Given the description of an element on the screen output the (x, y) to click on. 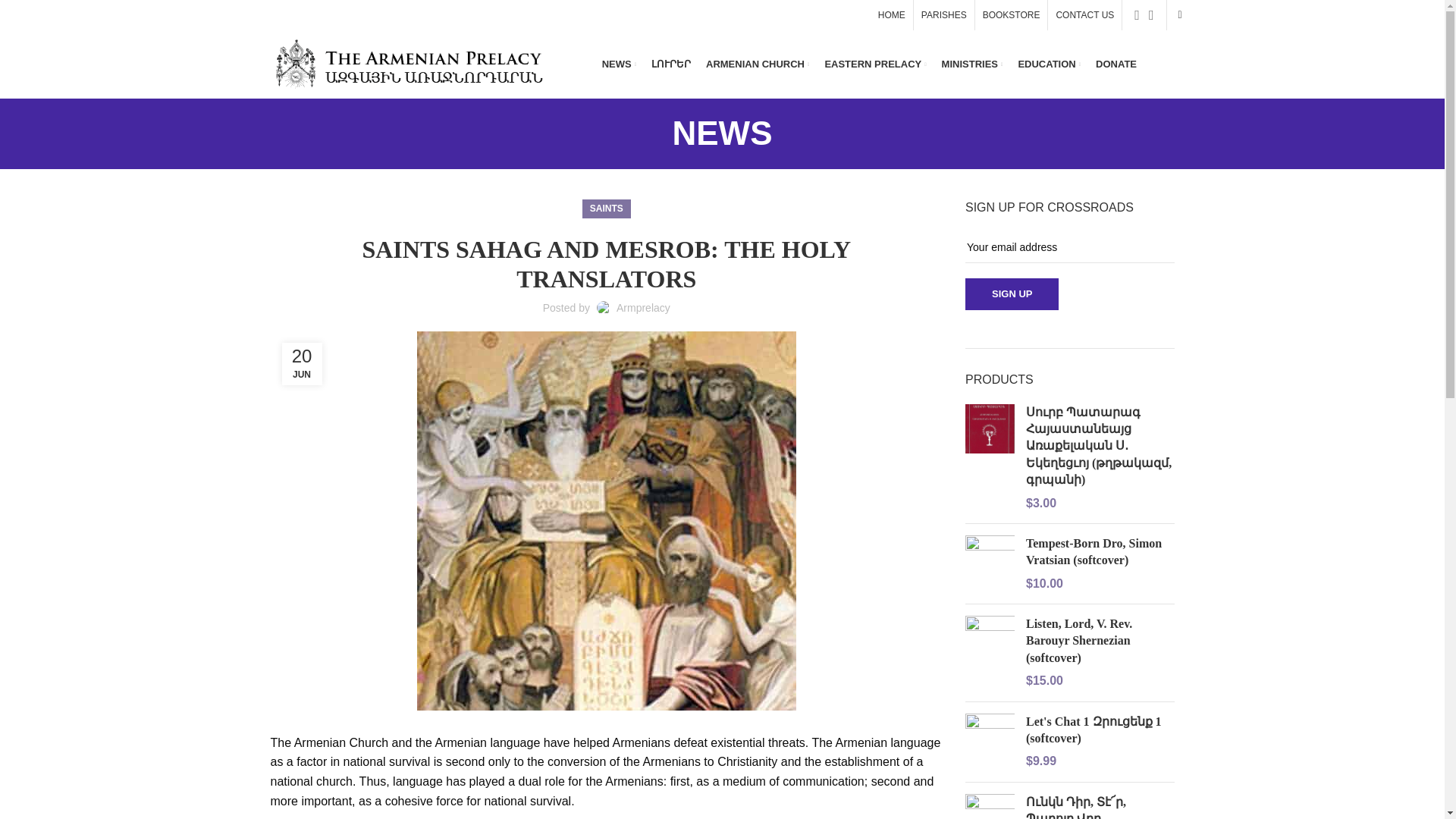
NEWS (619, 64)
CONTACT US (1084, 15)
PARISHES (943, 15)
HOME (891, 15)
MINISTRIES (972, 64)
Sign up (1011, 294)
ARMENIAN CHURCH (757, 64)
EASTERN PRELACY (875, 64)
BOOKSTORE (1011, 15)
